Given the description of an element on the screen output the (x, y) to click on. 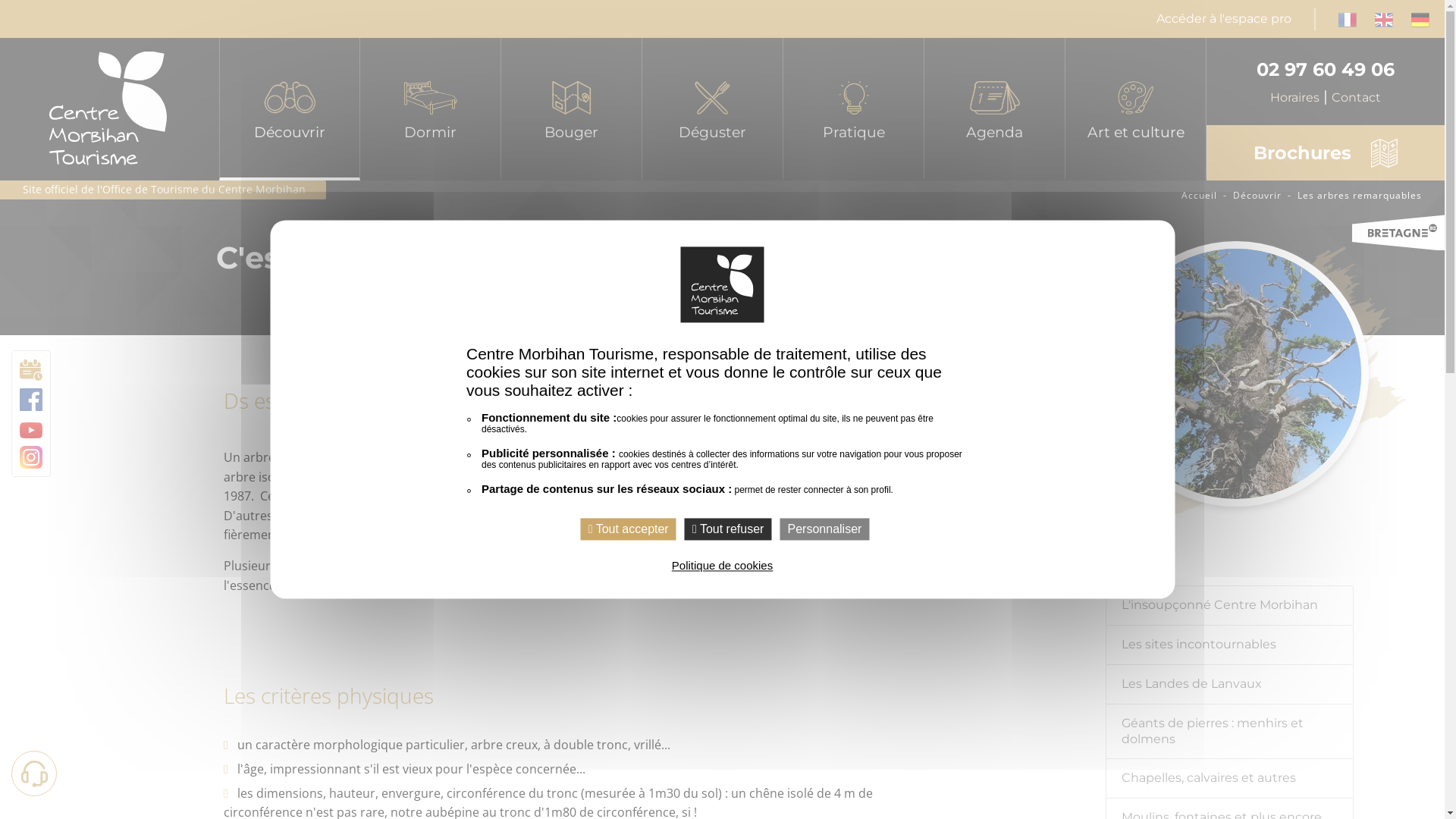
German Element type: hover (1420, 17)
Toutes les manifestations en Centre Morbihan Element type: text (994, 197)
Contact Element type: text (1355, 97)
Les arbres remarquables Element type: text (1359, 194)
Les sites incontournables Element type: text (289, 232)
Produits locaux Element type: text (712, 232)
Contactez-nous Element type: text (853, 232)
English Element type: hover (1383, 17)
Restaurants Element type: text (712, 197)
Sur le pouce Element type: text (712, 302)
Brochures Element type: text (1325, 152)
Brochures Element type: text (853, 267)
Sorties en famille Element type: text (571, 267)
Aires de jeux Element type: text (571, 406)
Pratique Element type: text (853, 108)
Agenda Element type: text (994, 108)
Dormir Element type: text (430, 108)
Campings et aires pour camping cars Element type: text (430, 337)
Office de tourisme, infos, horaires Element type: text (853, 197)
Francais Element type: hover (1347, 17)
Loisirs aquatiques Element type: text (571, 337)
Les Landes de Lanvaux Element type: text (289, 267)
Chapelles, calvaires et autres Element type: text (289, 337)
Agenda mensuel des animations Element type: text (994, 232)
Bouger Element type: text (571, 108)
Jardins et parcs Element type: text (289, 441)
Moulins, fontaines et plus encore Element type: text (289, 371)
Accueil Element type: text (1199, 194)
Expressions d'artistes Element type: text (1135, 197)
Billetteries Element type: text (1135, 232)
Les sites incontournables Element type: text (1229, 645)
Horaires Element type: text (1300, 97)
Les Landes de Lanvaux Element type: text (1229, 684)
Chapelles, calvaires et autres Element type: text (1229, 778)
Art et culture Element type: text (1135, 108)
